Given the description of an element on the screen output the (x, y) to click on. 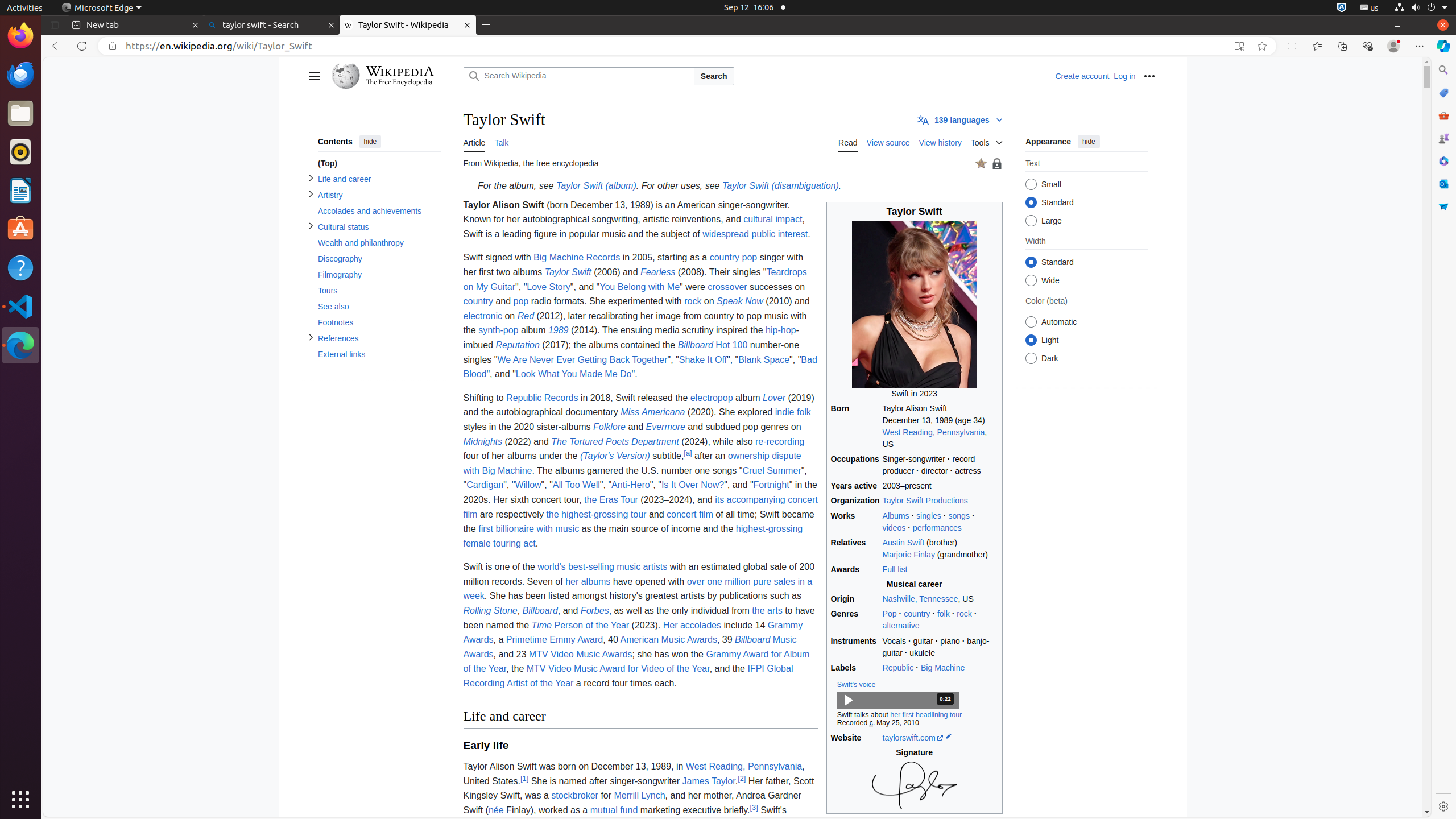
Split screen Element type: push-button (1291, 45)
Drop Element type: push-button (1443, 206)
[a] Element type: link (687, 452)
stockbroker Element type: link (574, 795)
Life and career Element type: link (378, 179)
